Given the description of an element on the screen output the (x, y) to click on. 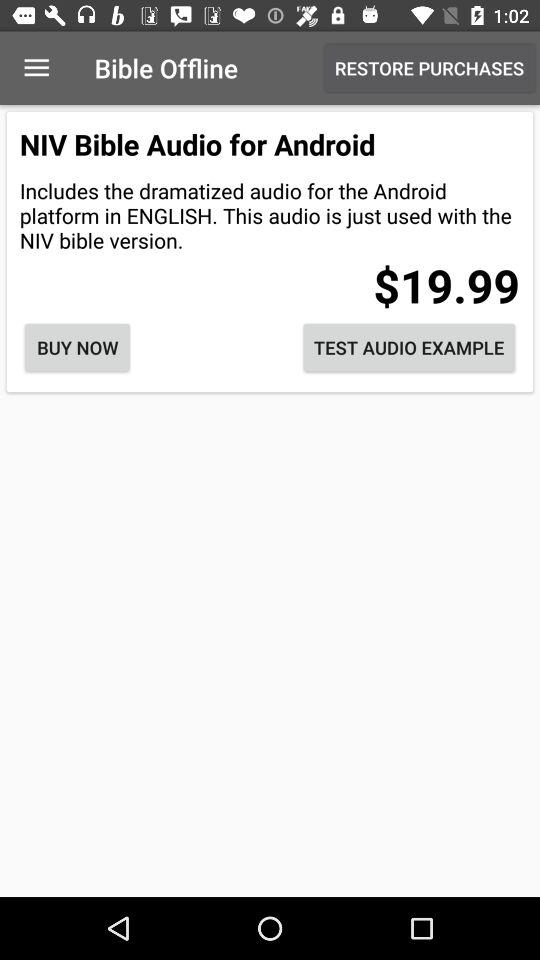
turn off item to the left of bible offline icon (36, 68)
